Given the description of an element on the screen output the (x, y) to click on. 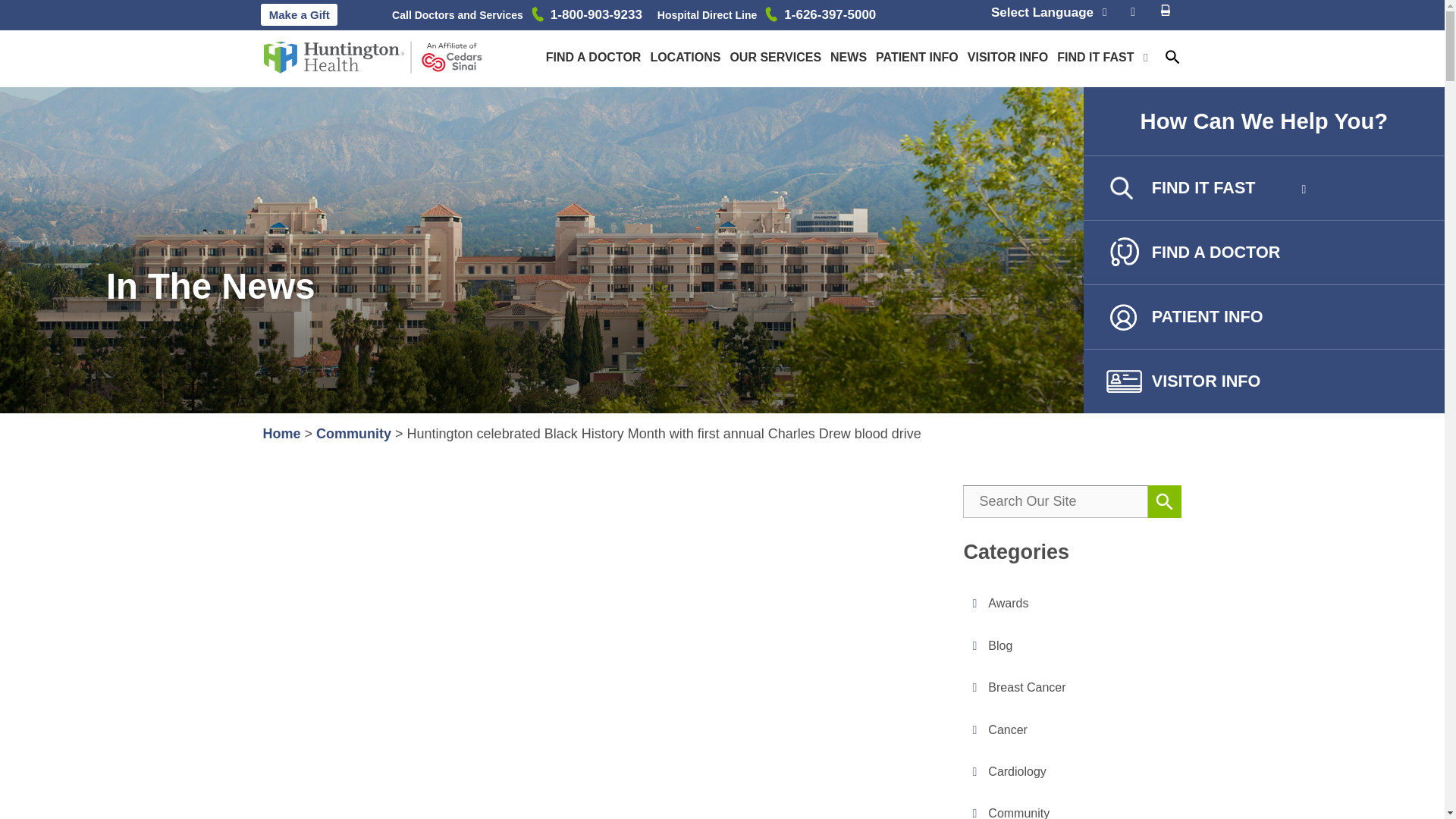
VISITOR INFO (1008, 56)
1-800-903-9233 (596, 15)
NEWS (847, 56)
Home (280, 433)
Make a Gift (298, 14)
LOCATIONS (684, 56)
1-626-397-5000 (830, 15)
Toggle Font size (1133, 12)
FIND A DOCTOR (594, 56)
OUR SERVICES (775, 56)
print (1166, 13)
FIND IT FAST (1095, 56)
PATIENT INFO (917, 56)
submit (148, 18)
